Given the description of an element on the screen output the (x, y) to click on. 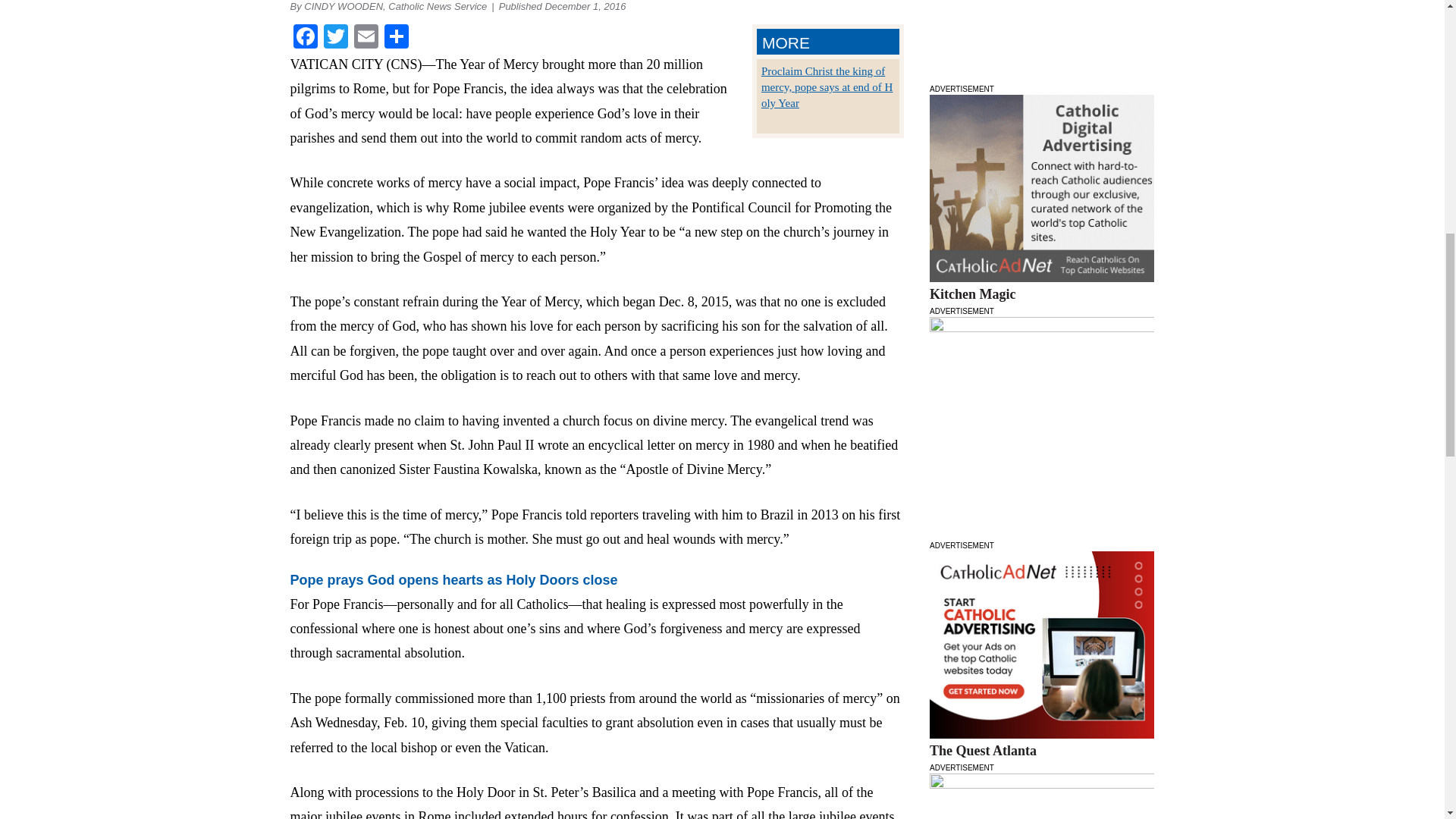
Email (365, 38)
Facebook (304, 38)
Twitter (335, 38)
